Given the description of an element on the screen output the (x, y) to click on. 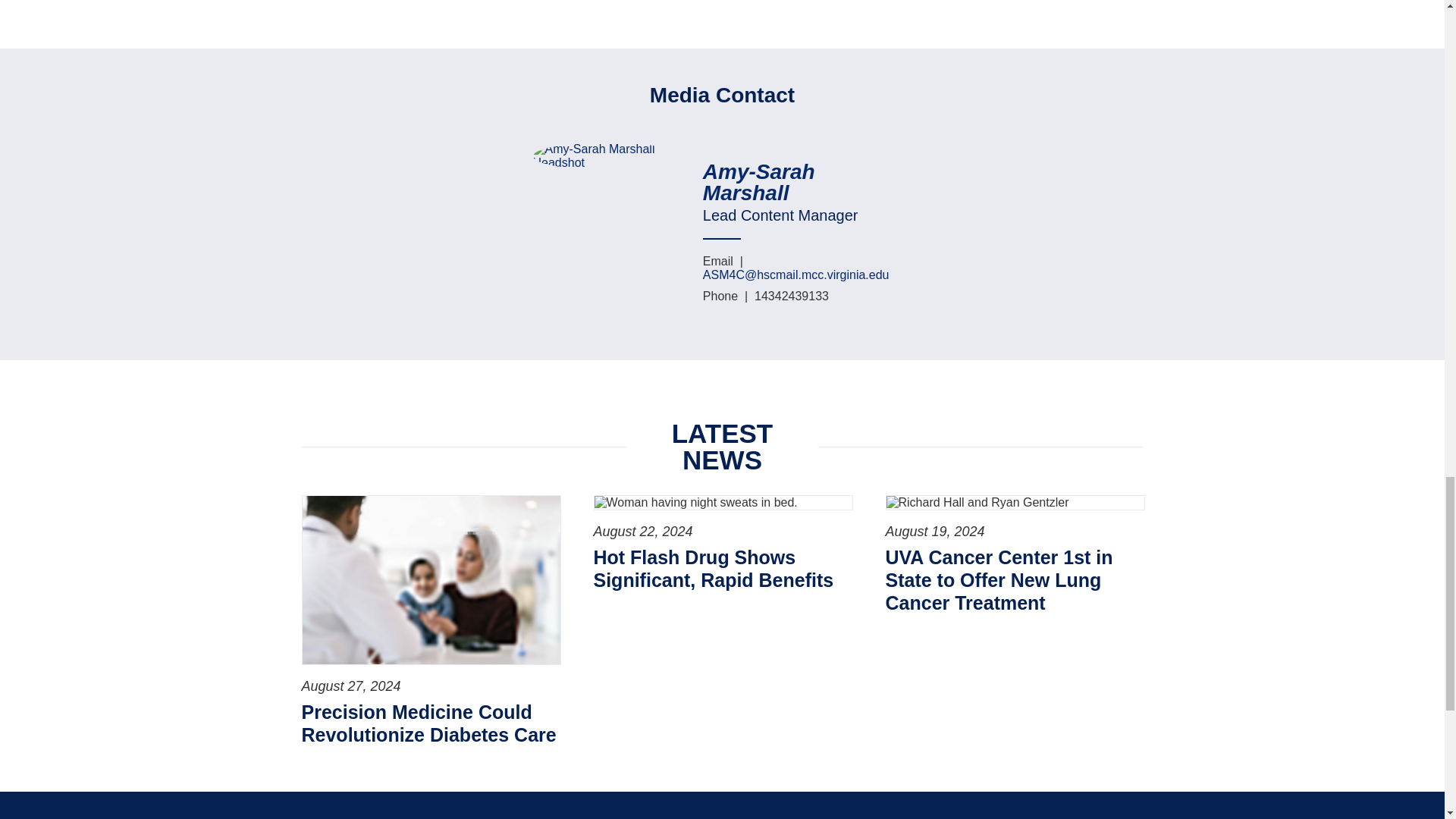
Hot Flash Drug Shows Significant, Rapid Benefits (721, 568)
View all posts by  (796, 182)
Amy-Sarah Marshall (796, 182)
Precision Medicine Could Revolutionize Diabetes Care (430, 723)
